Given the description of an element on the screen output the (x, y) to click on. 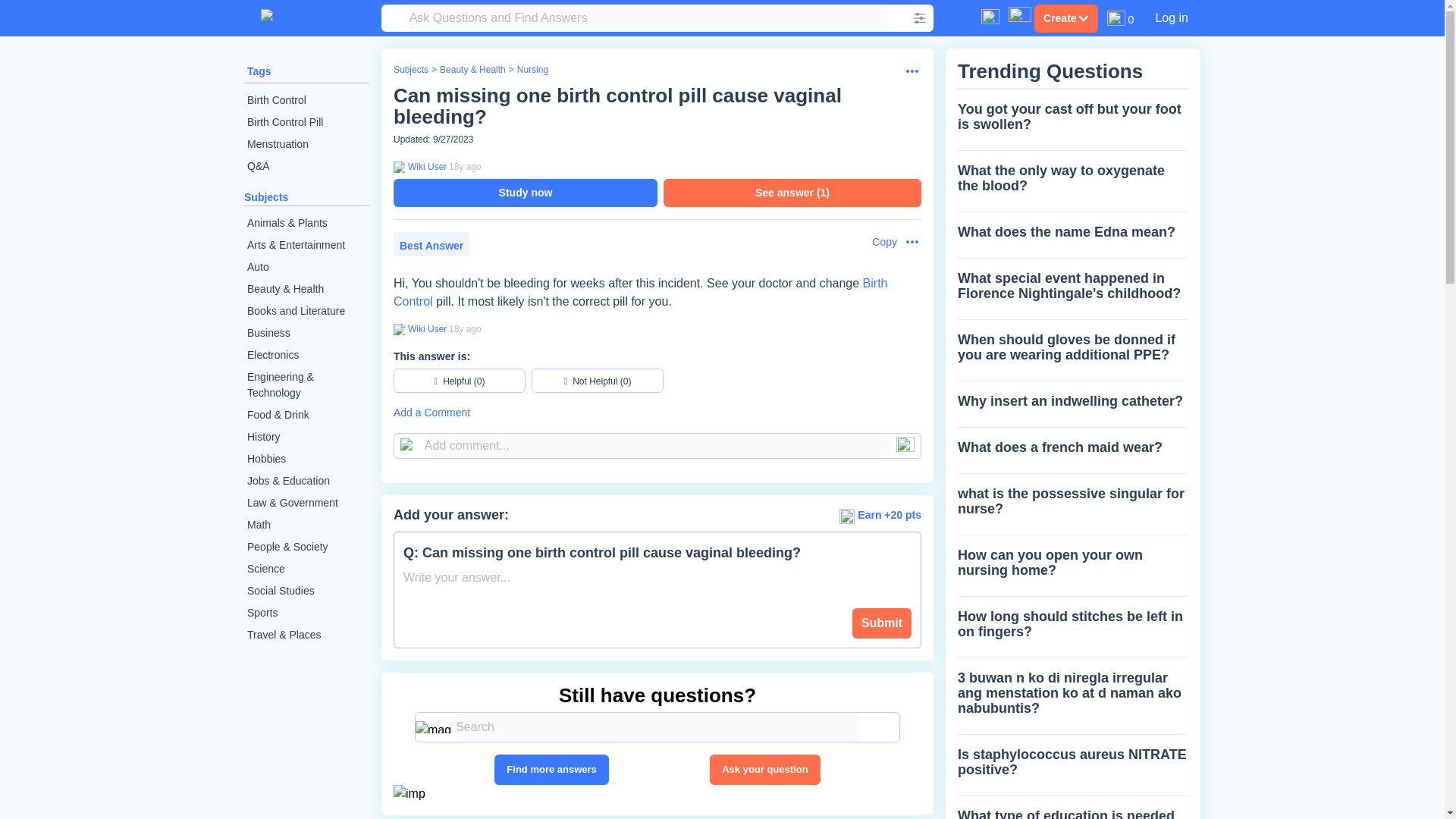
Copy (876, 242)
Electronics (306, 354)
Sports (306, 612)
Tags (258, 70)
2006-08-13 21:33:07 (464, 328)
Hobbies (306, 458)
Birth Control Pill (306, 122)
2006-08-13 21:33:07 (464, 166)
Create (1065, 18)
Birth Control (306, 100)
